Given the description of an element on the screen output the (x, y) to click on. 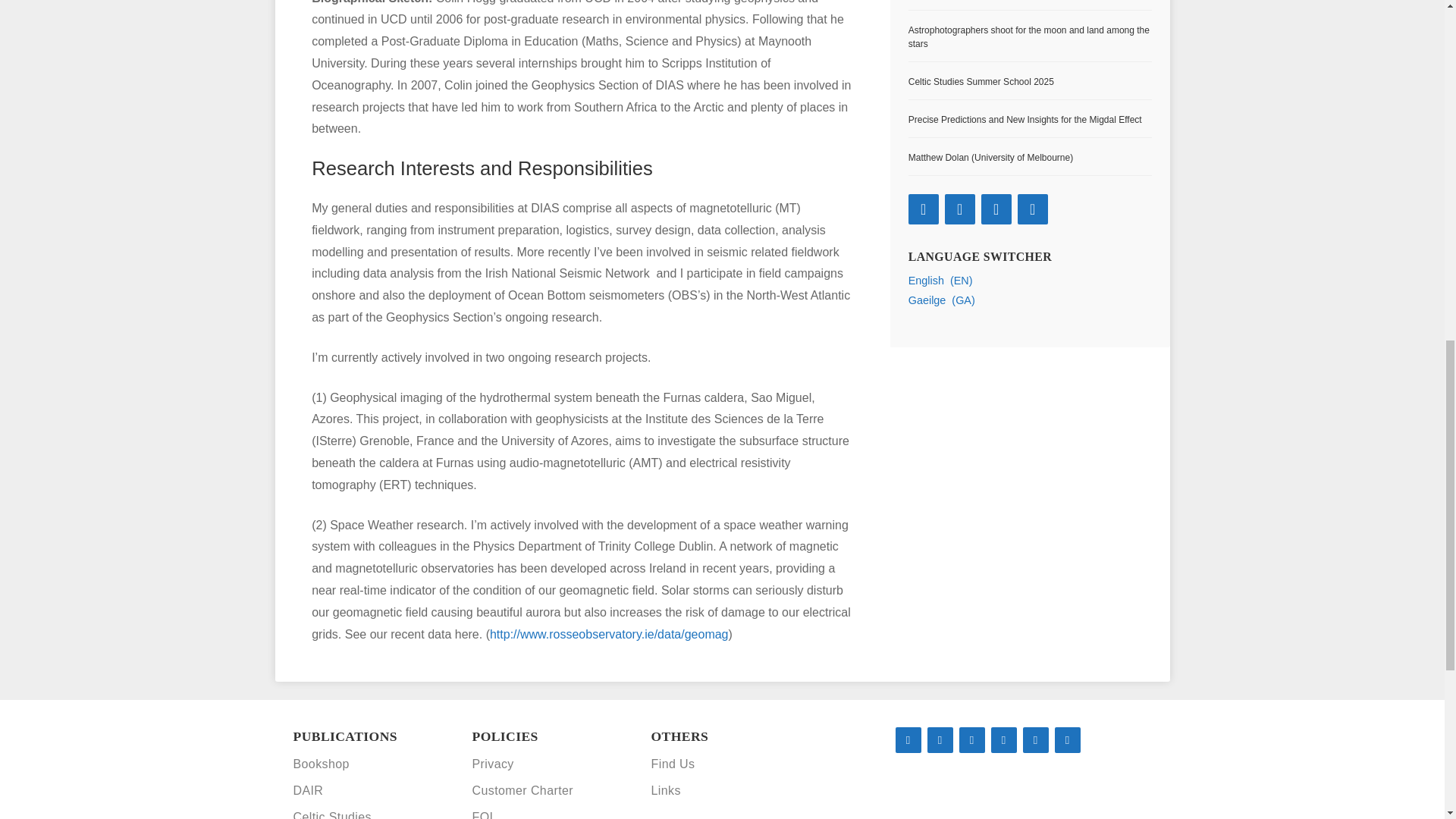
Twitter (971, 739)
YouTube (1003, 739)
Instagram (1035, 739)
Precise Predictions and New Insights for the Migdal Effect (1024, 119)
Twitter (959, 209)
Contact (1067, 739)
YouTube (1032, 209)
Mastodon (907, 739)
Facebook (996, 209)
Celtic Studies Summer School 2025 (981, 81)
Mastodon (923, 209)
Facebook (939, 739)
